Given the description of an element on the screen output the (x, y) to click on. 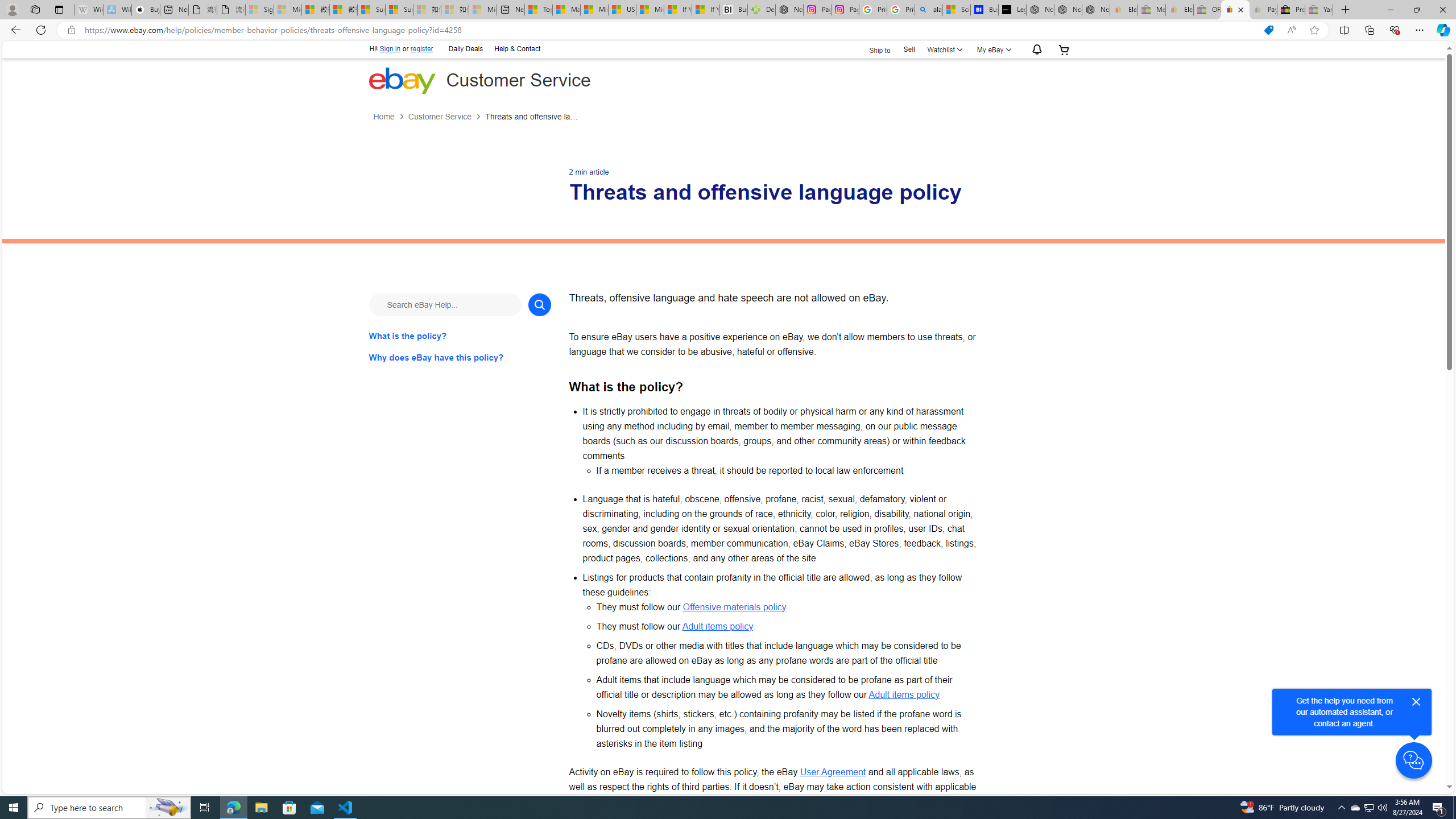
Wikipedia - Sleeping (88, 9)
Press Room - eBay Inc. (1291, 9)
Settings and more (Alt+F) (1419, 29)
New tab (510, 9)
Sell (908, 49)
Back (13, 29)
Close (1415, 701)
What is the policy? (459, 335)
Tab actions menu (58, 9)
eBay Home (401, 80)
Workspaces (34, 9)
Watchlist (943, 49)
